Given the description of an element on the screen output the (x, y) to click on. 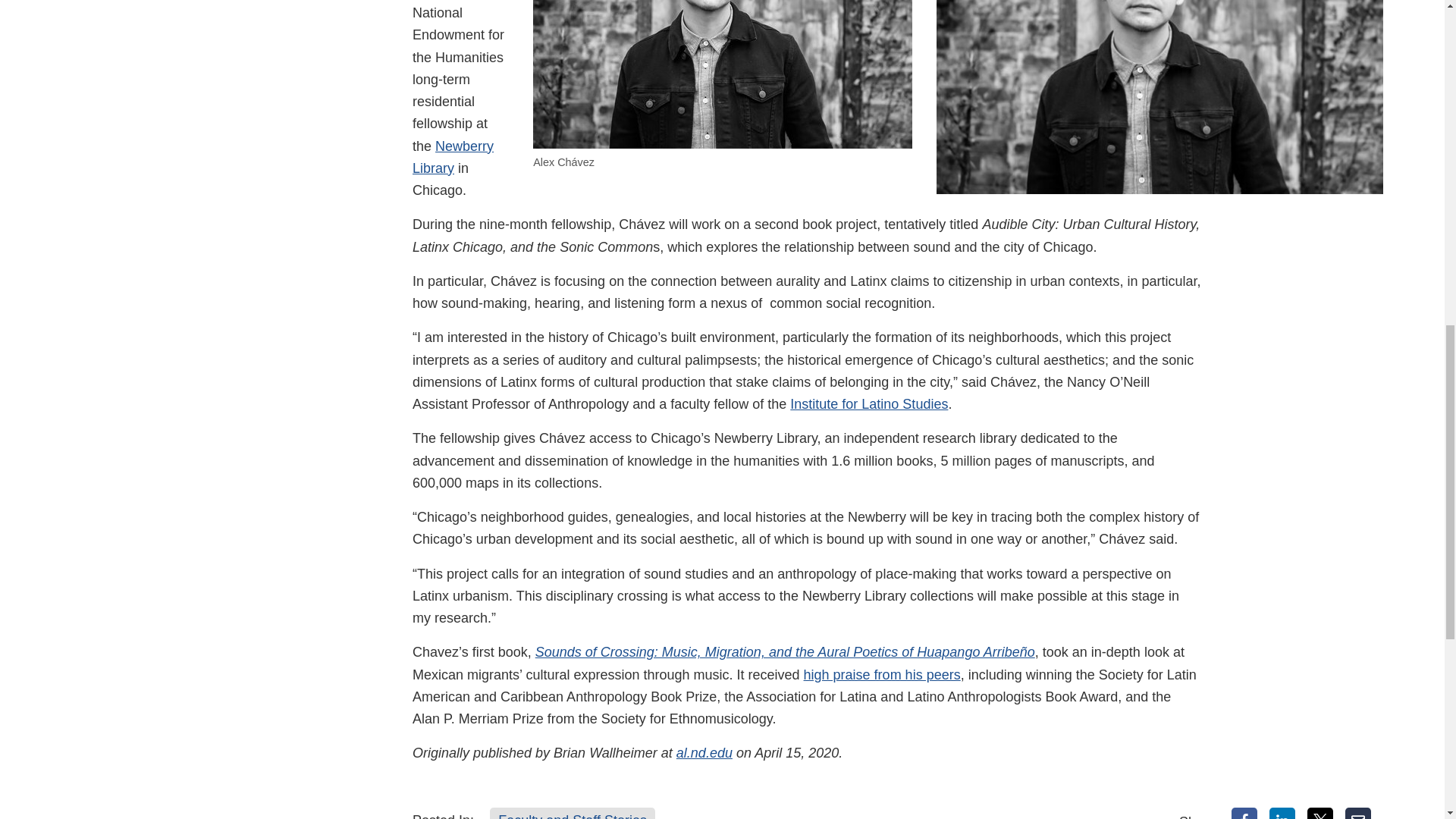
Email (1358, 813)
Facebook (1244, 813)
LinkedIn (1282, 813)
Newberry Library (452, 157)
Institute for Latino Studies (868, 403)
